Given the description of an element on the screen output the (x, y) to click on. 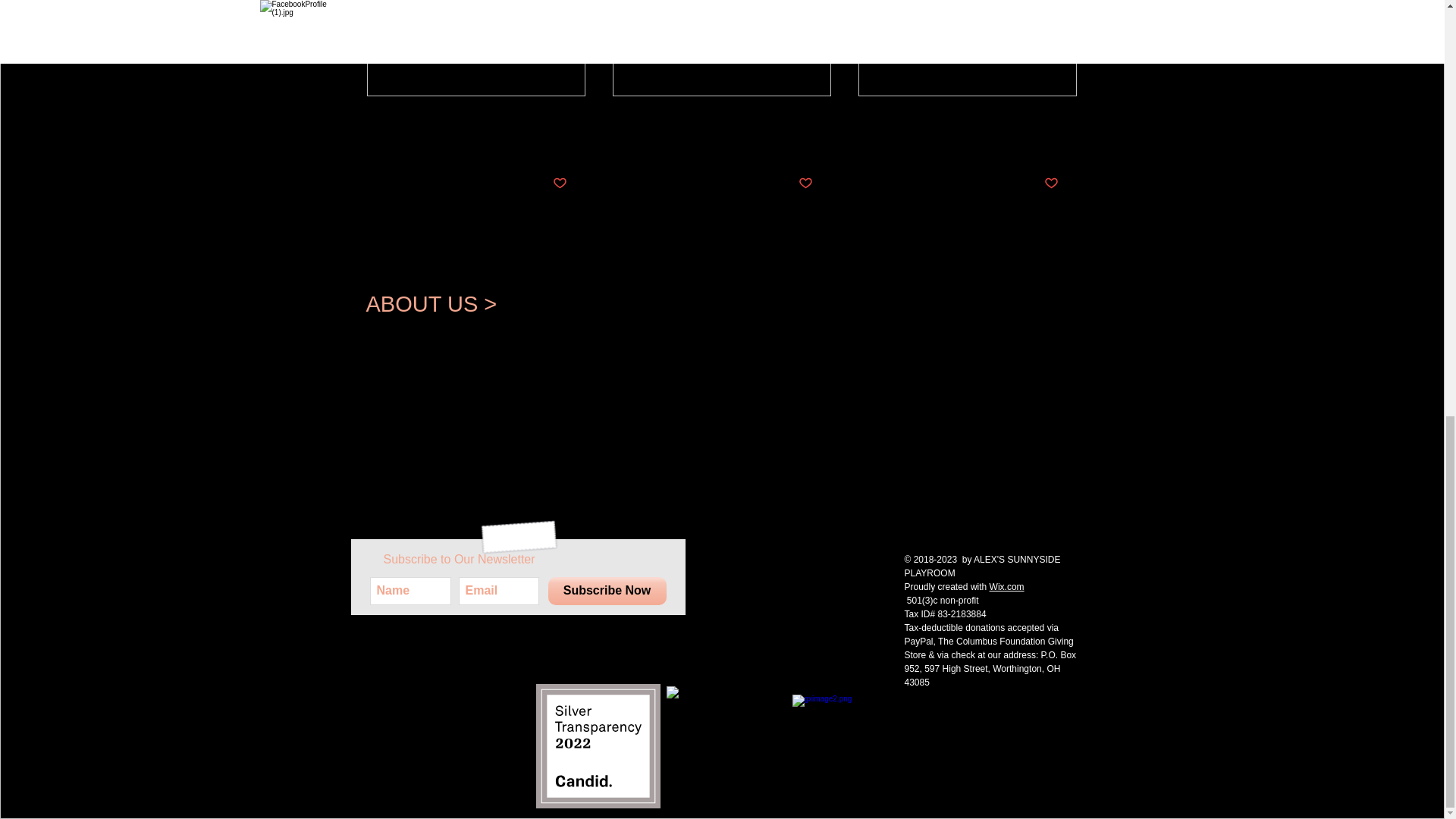
Post not marked as liked (558, 183)
Subscribe Now (606, 591)
Post not marked as liked (1050, 183)
June 2024 (476, 122)
Post not marked as liked (804, 183)
Wix.com (1007, 586)
September News (967, 122)
